Given the description of an element on the screen output the (x, y) to click on. 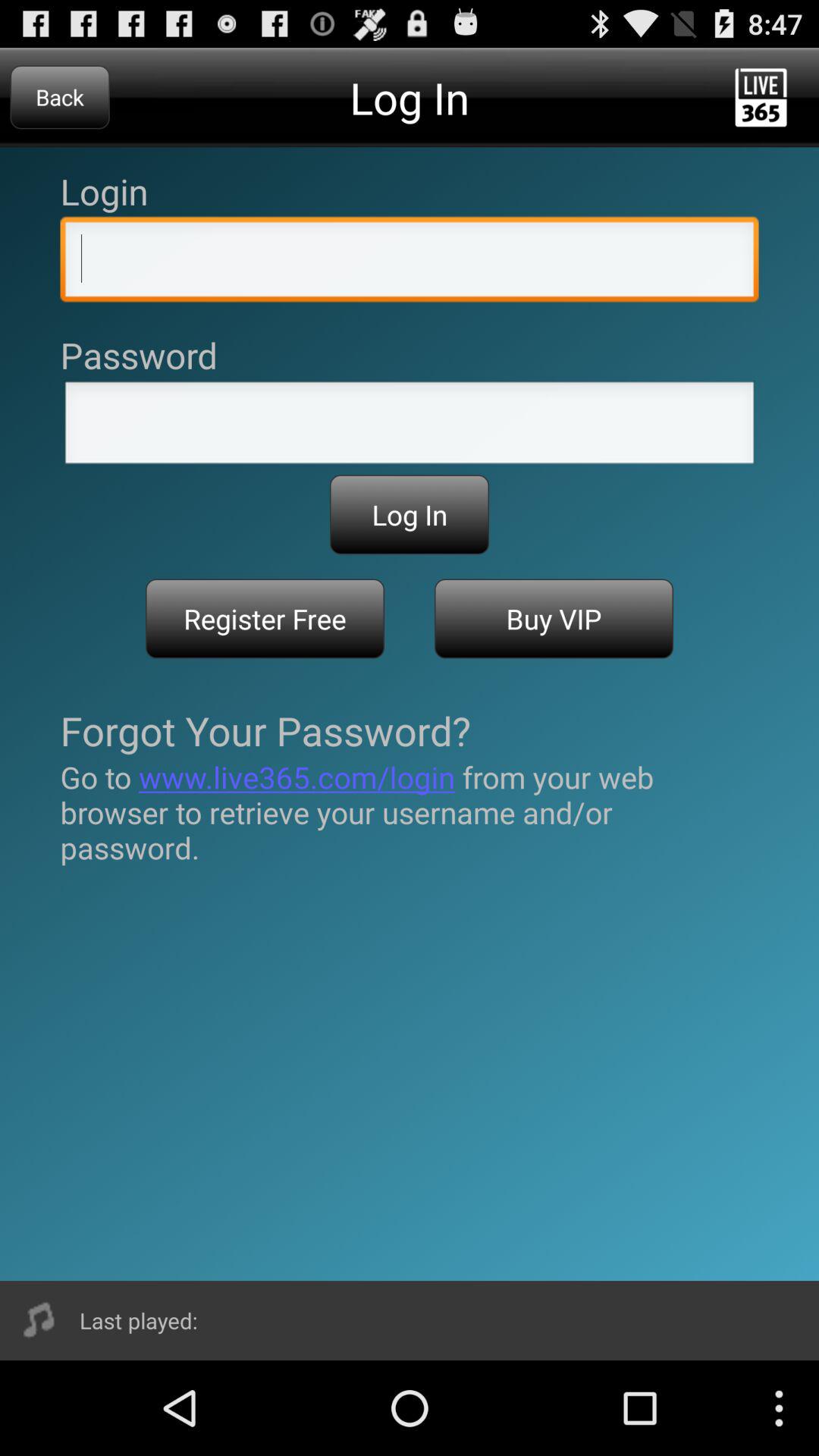
choose the icon next to the buy vip item (264, 618)
